Given the description of an element on the screen output the (x, y) to click on. 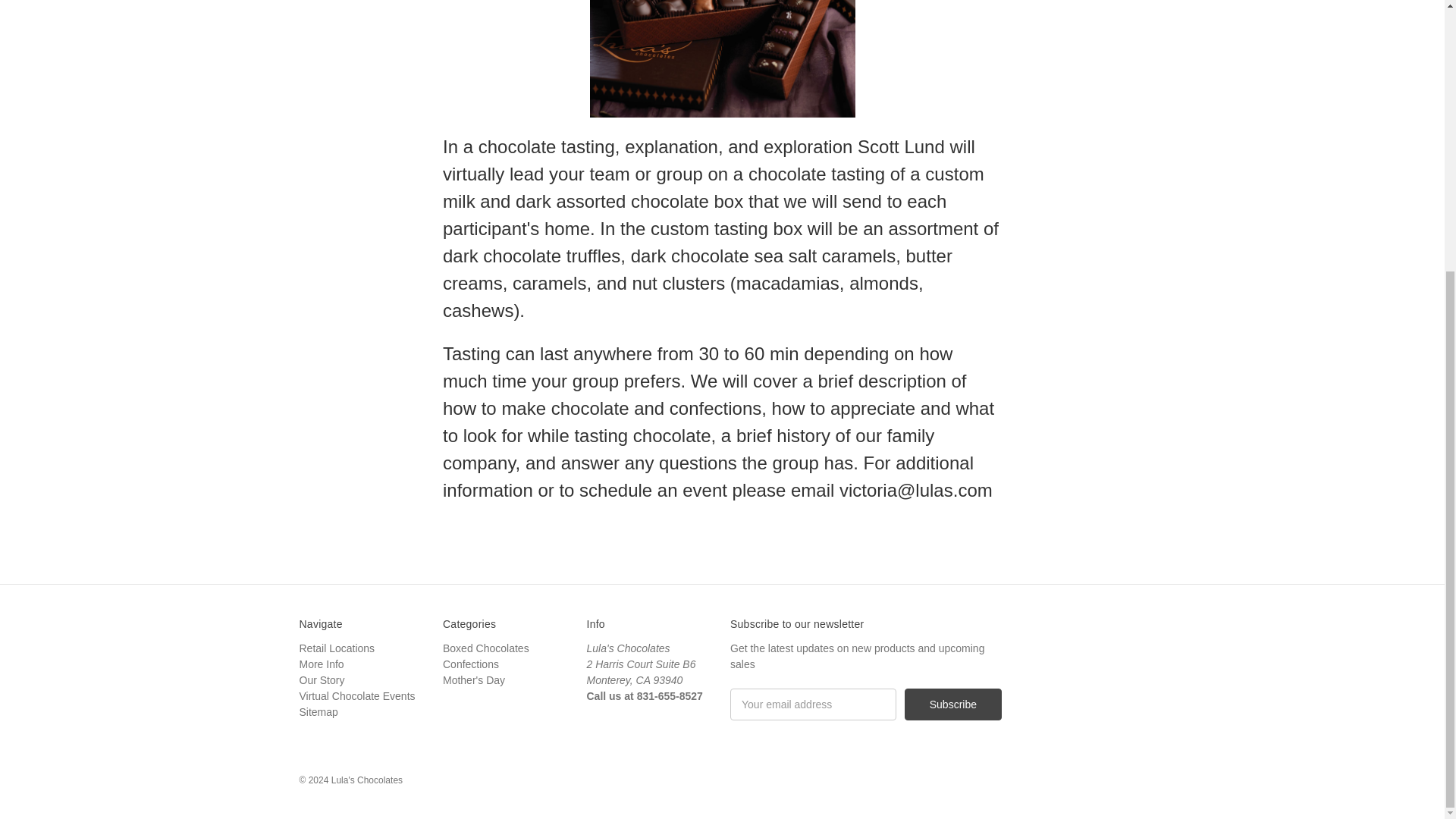
Retail Locations (336, 648)
Sitemap (317, 711)
Subscribe (952, 704)
More Info (320, 664)
Subscribe (952, 704)
Mother's Day (473, 680)
Our Story (320, 680)
Confections (470, 664)
Boxed Chocolates (485, 648)
Virtual Chocolate Events (356, 695)
